Given the description of an element on the screen output the (x, y) to click on. 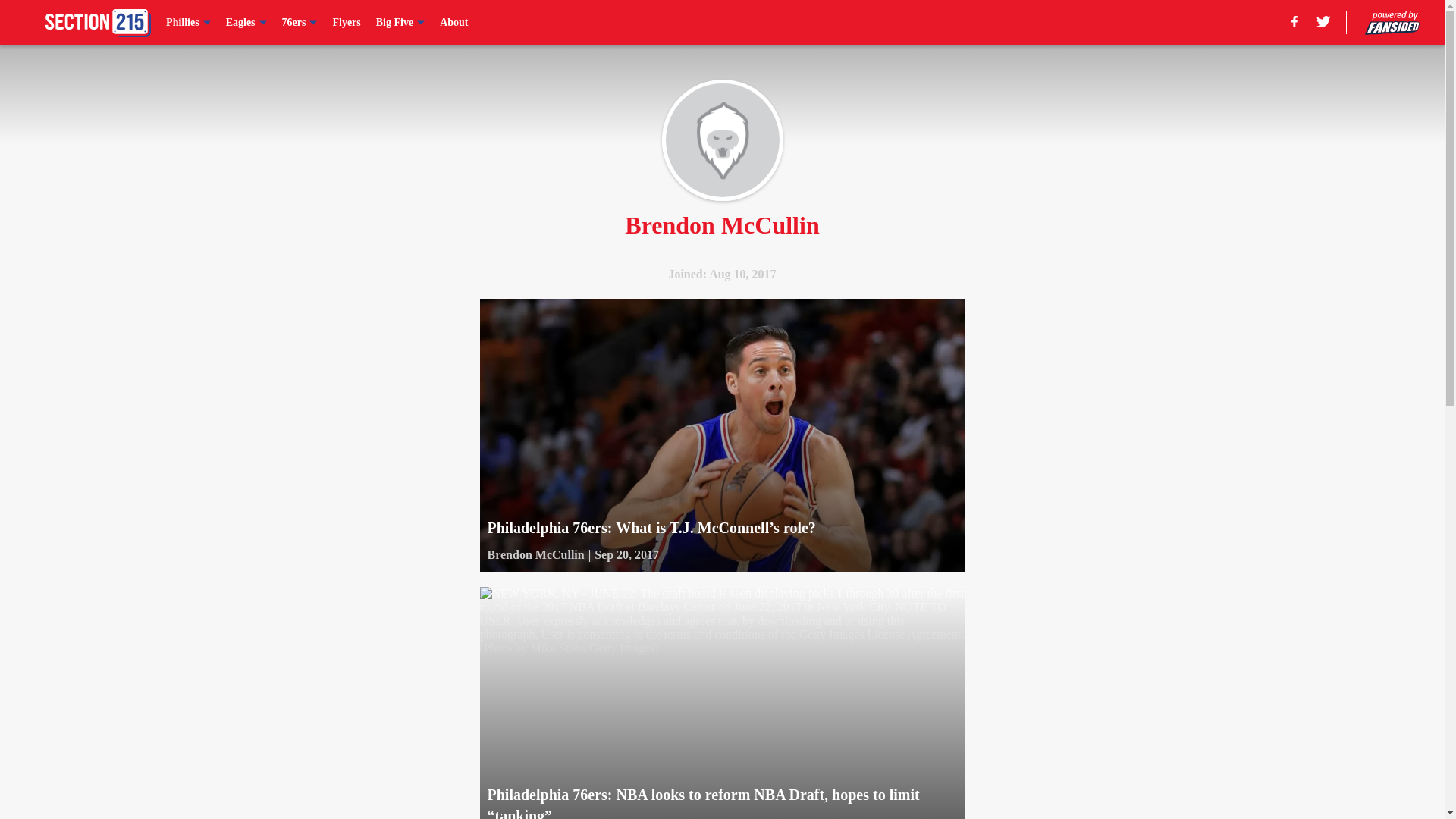
bmccullin (721, 140)
Brendon McCullin (534, 555)
Flyers (345, 22)
About (453, 22)
